Given the description of an element on the screen output the (x, y) to click on. 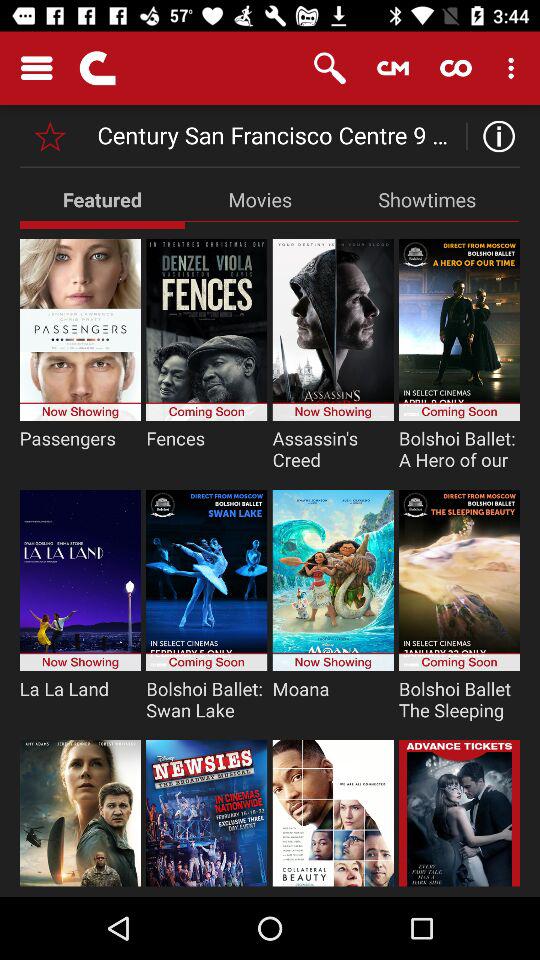
display information (493, 136)
